Given the description of an element on the screen output the (x, y) to click on. 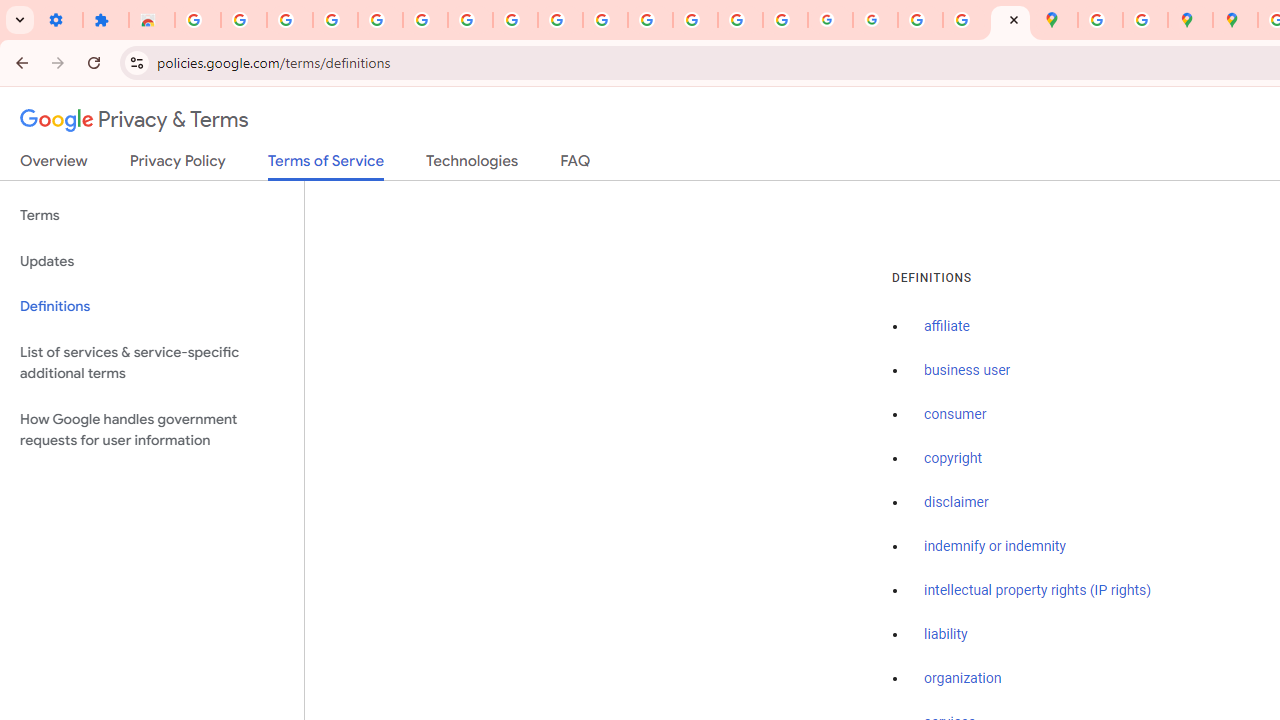
business user (967, 371)
Google Account (514, 20)
Reviews: Helix Fruit Jump Arcade Game (152, 20)
copyright (952, 459)
affiliate (947, 327)
